Given the description of an element on the screen output the (x, y) to click on. 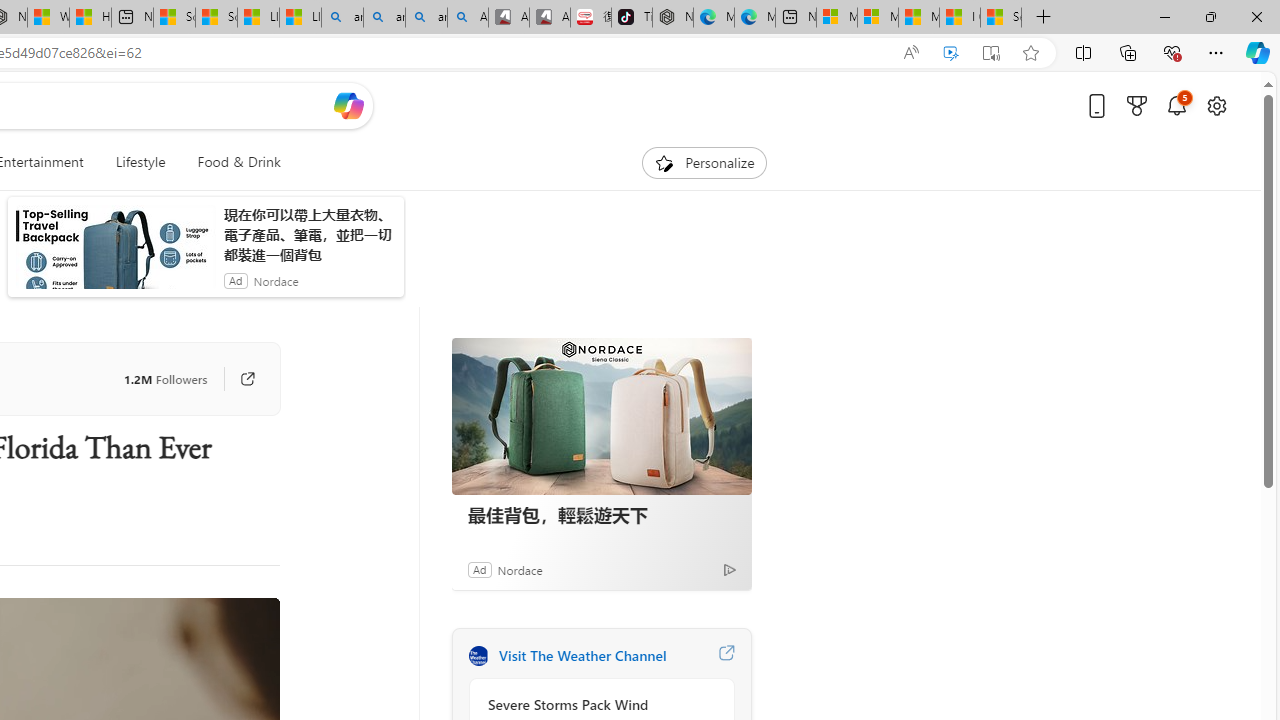
Close (1256, 16)
Microsoft account | Privacy (877, 17)
Ad Choice (729, 569)
Browser essentials (1171, 52)
Add this page to favorites (Ctrl+D) (1030, 53)
Go to publisher's site (237, 378)
Food & Drink (239, 162)
Lifestyle (140, 162)
Read aloud this page (Ctrl+Shift+U) (910, 53)
Nordace (519, 569)
Notifications (1176, 105)
anim-content (115, 255)
I Gained 20 Pounds of Muscle in 30 Days! | Watch (959, 17)
Settings and more (Alt+F) (1215, 52)
